Given the description of an element on the screen output the (x, y) to click on. 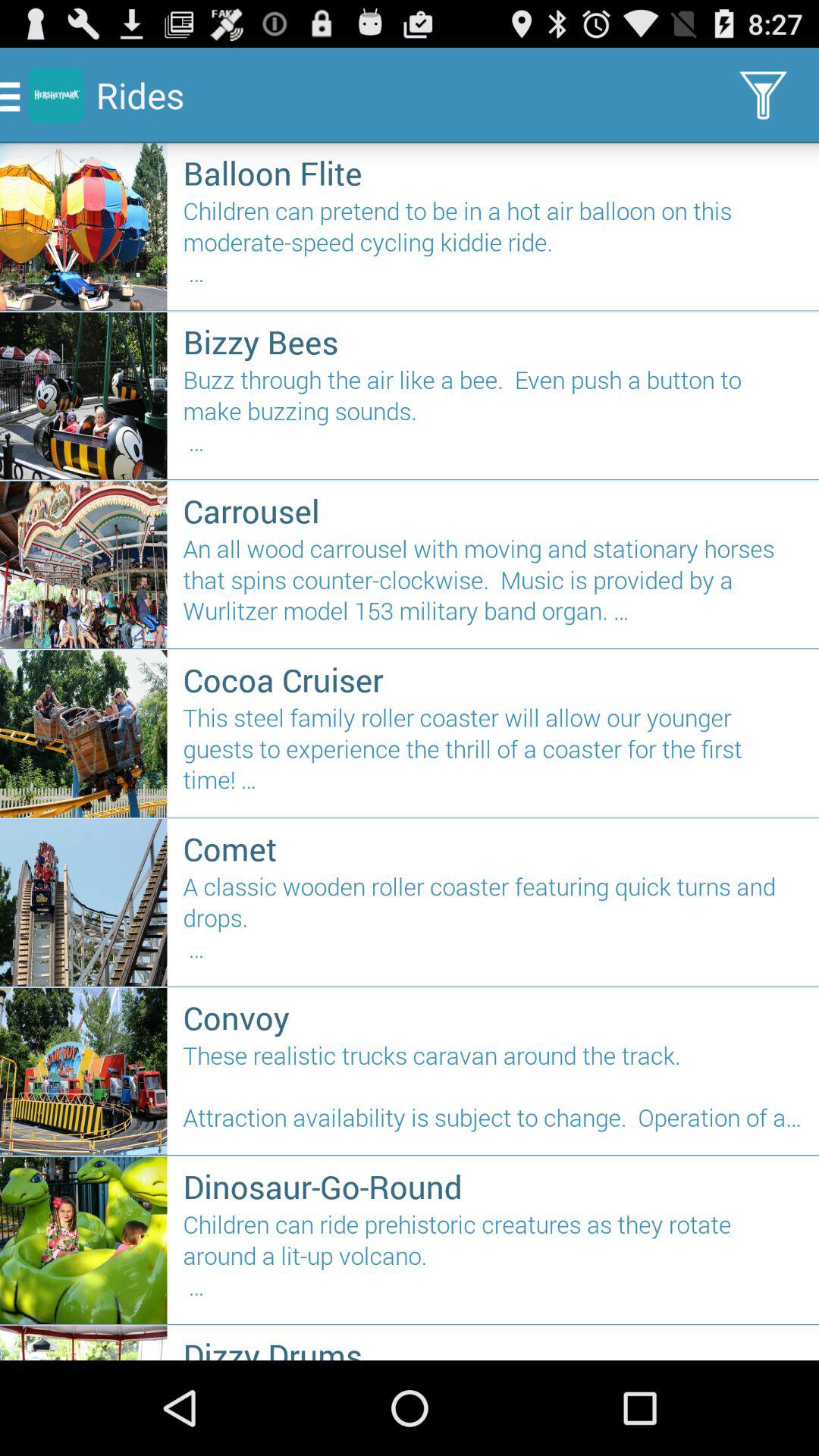
select the icon below the bizzy bees item (493, 417)
